Given the description of an element on the screen output the (x, y) to click on. 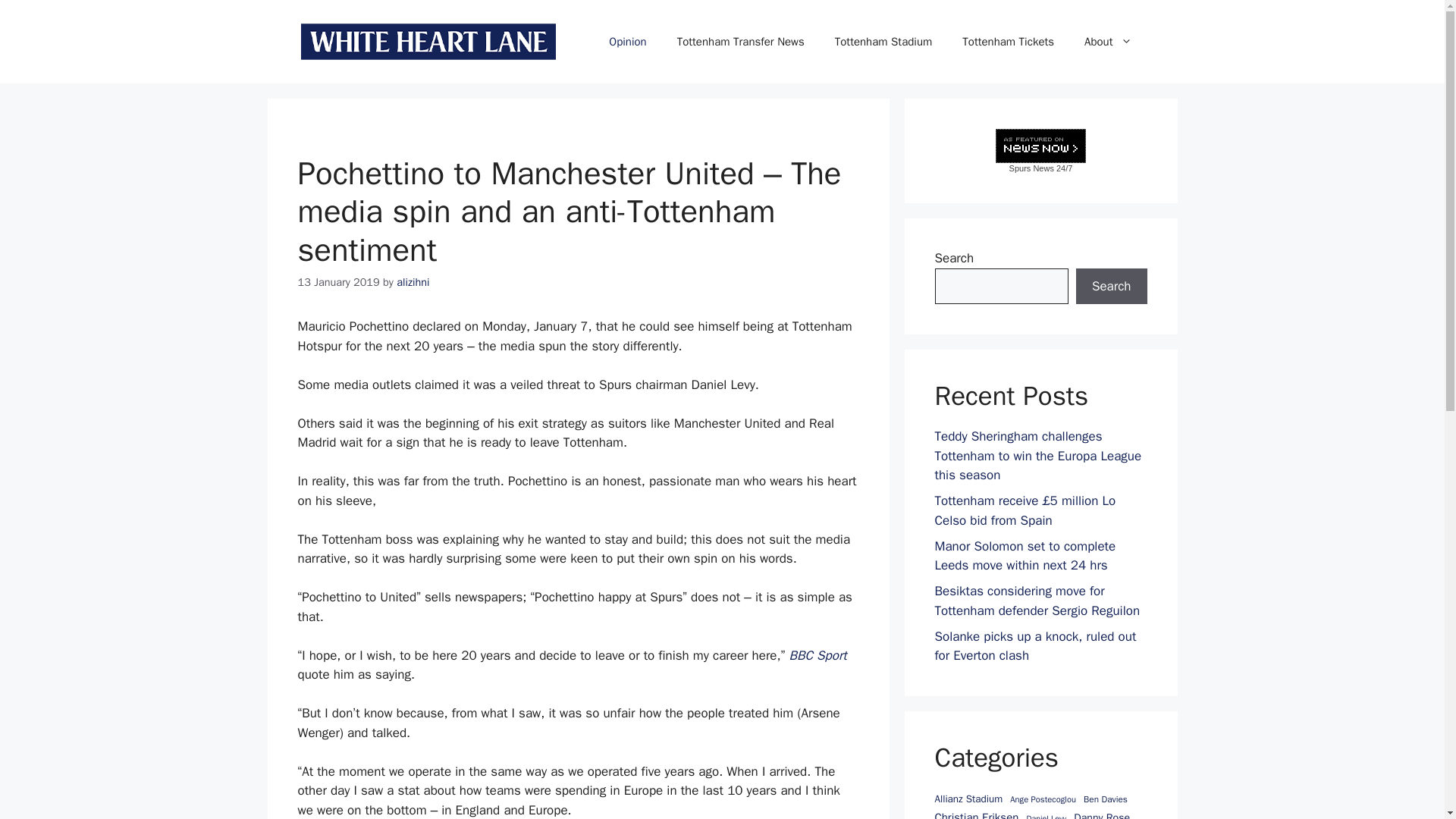
Search (1111, 286)
Ange Postecoglou (1042, 799)
Christian Eriksen (975, 814)
Solanke picks up a knock, ruled out for Everton clash (1034, 645)
About (1107, 41)
Danny Rose (1101, 814)
Manor Solomon set to complete Leeds move within next 24 hrs (1024, 556)
Allianz Stadium (968, 798)
Daniel Levy (1045, 816)
